Given the description of an element on the screen output the (x, y) to click on. 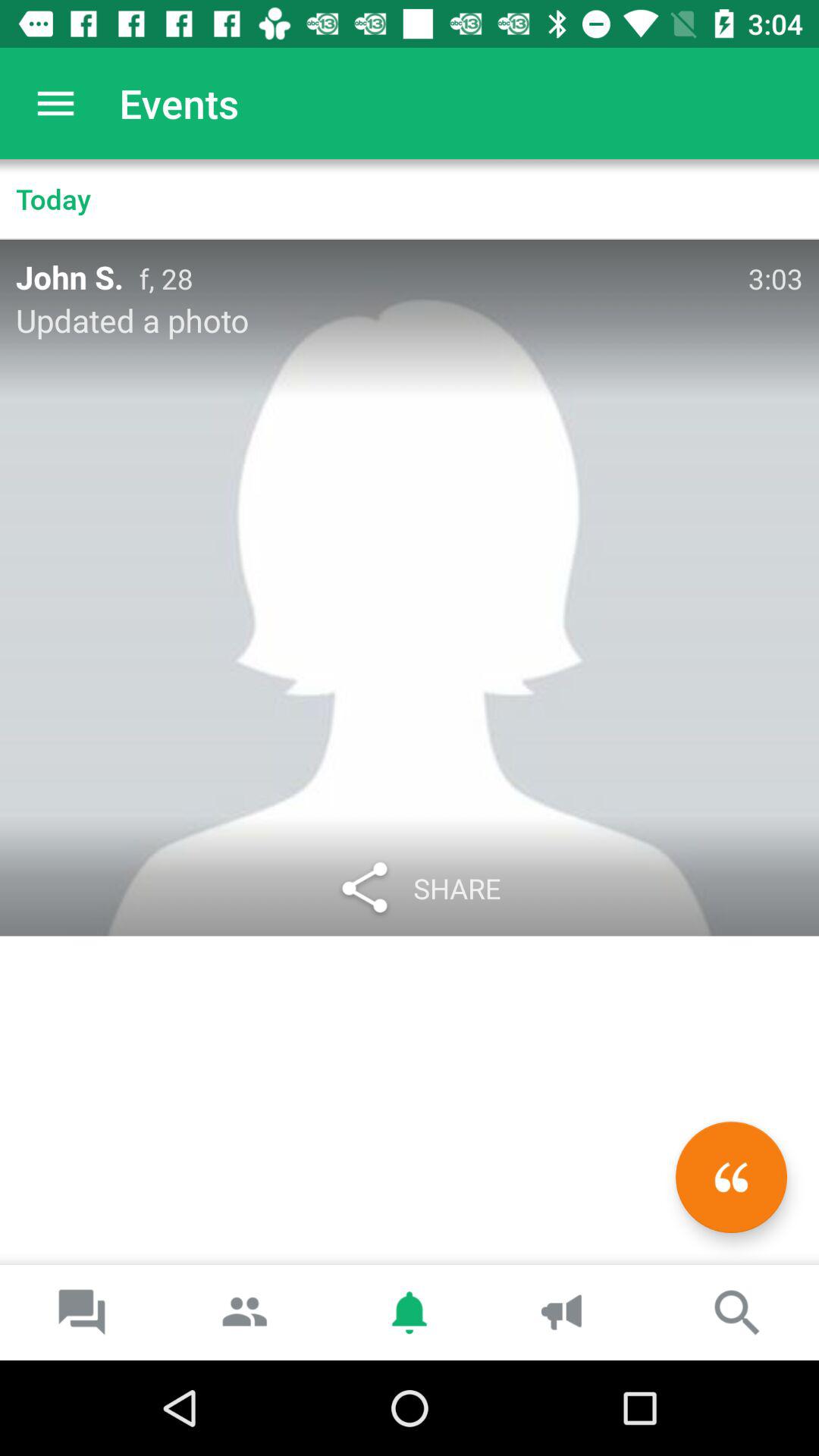
click the icon above today icon (55, 103)
